Given the description of an element on the screen output the (x, y) to click on. 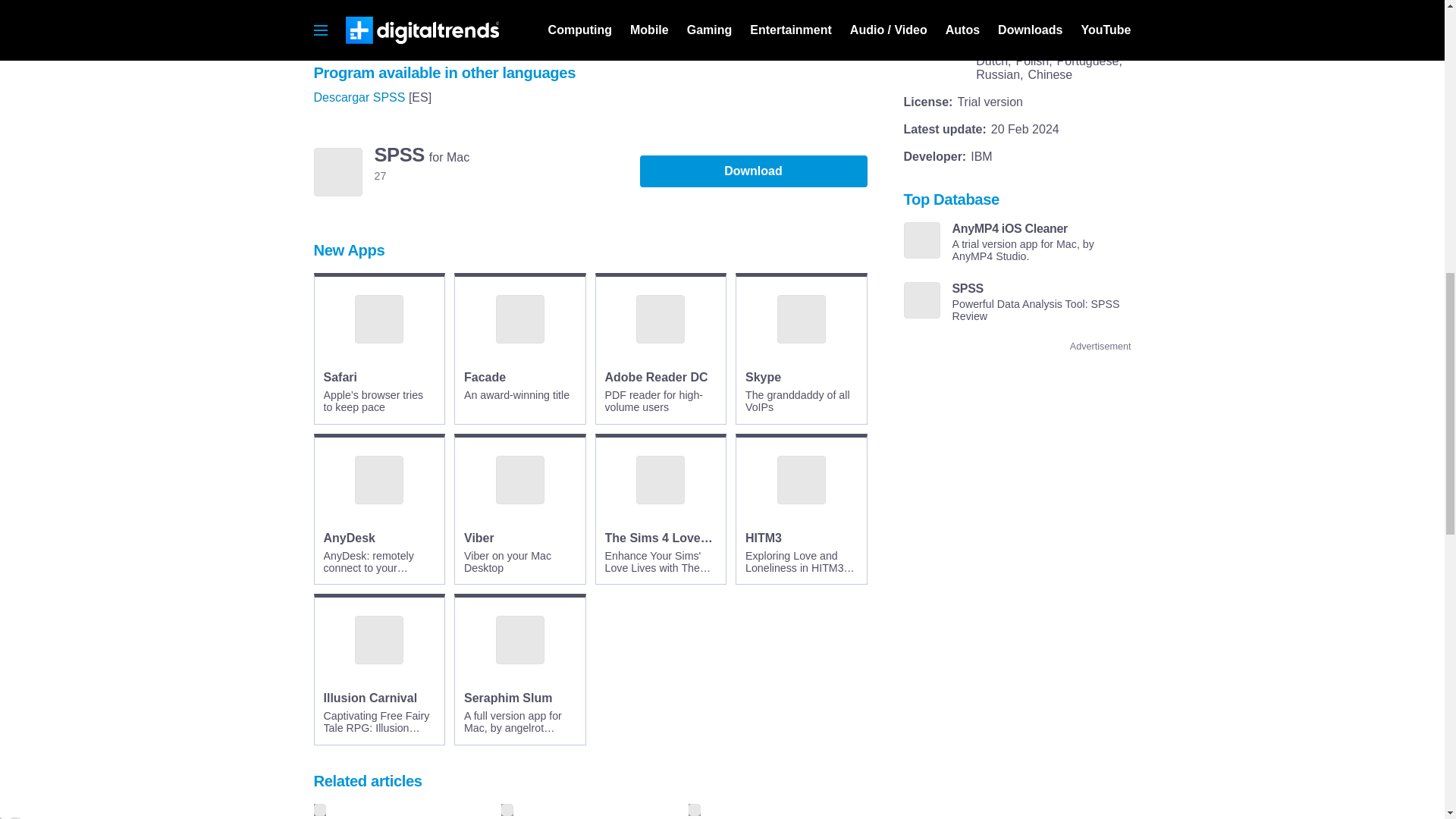
Facade (484, 377)
AnyDesk (348, 537)
SPSS for Windows (385, 13)
Skype (762, 377)
Download (753, 171)
Descargar SPSS (360, 97)
Safari (339, 377)
Adobe Reader DC (656, 377)
